Given the description of an element on the screen output the (x, y) to click on. 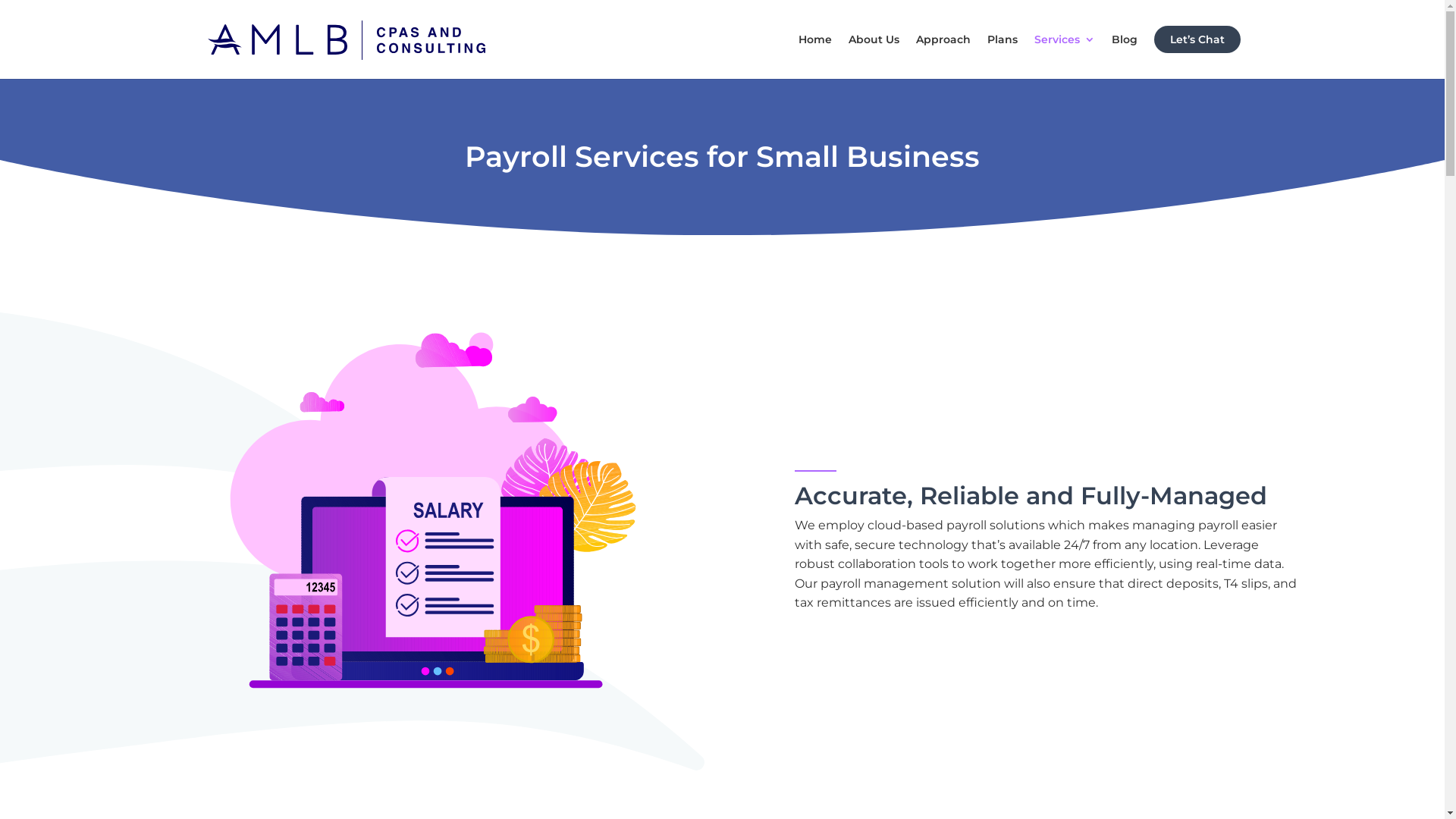
Skip to content Element type: text (0, 0)
Blog Element type: text (1124, 56)
Plans Element type: text (1002, 56)
About Us Element type: text (872, 56)
Home Element type: text (814, 56)
salary-graphic Element type: hover (433, 541)
Approach Element type: text (943, 56)
Services Element type: text (1064, 56)
